Given the description of an element on the screen output the (x, y) to click on. 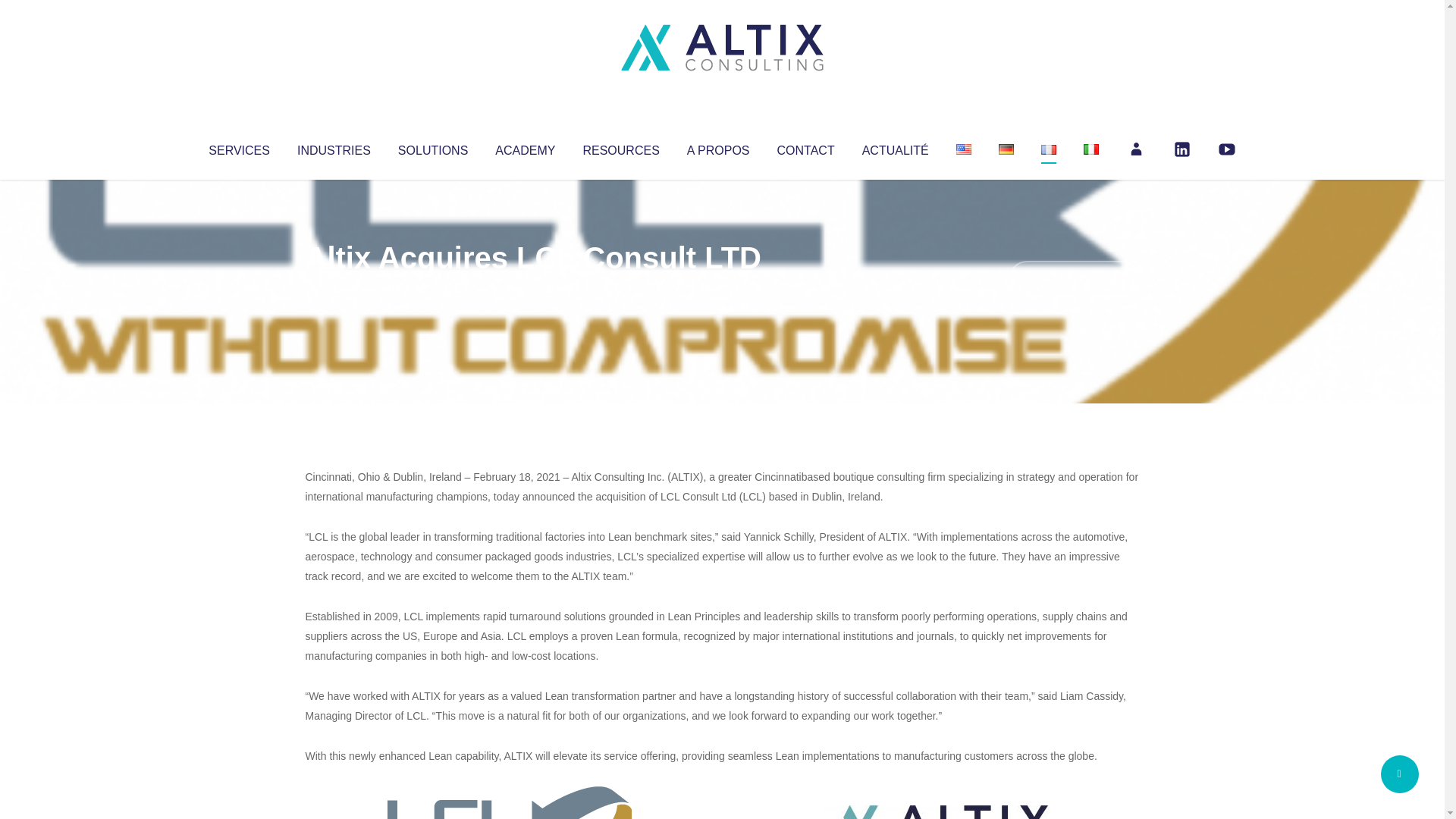
A PROPOS (718, 146)
Uncategorized (530, 287)
ACADEMY (524, 146)
SERVICES (238, 146)
SOLUTIONS (432, 146)
Altix (333, 287)
Articles par Altix (333, 287)
RESOURCES (620, 146)
No Comments (1073, 278)
INDUSTRIES (334, 146)
